Given the description of an element on the screen output the (x, y) to click on. 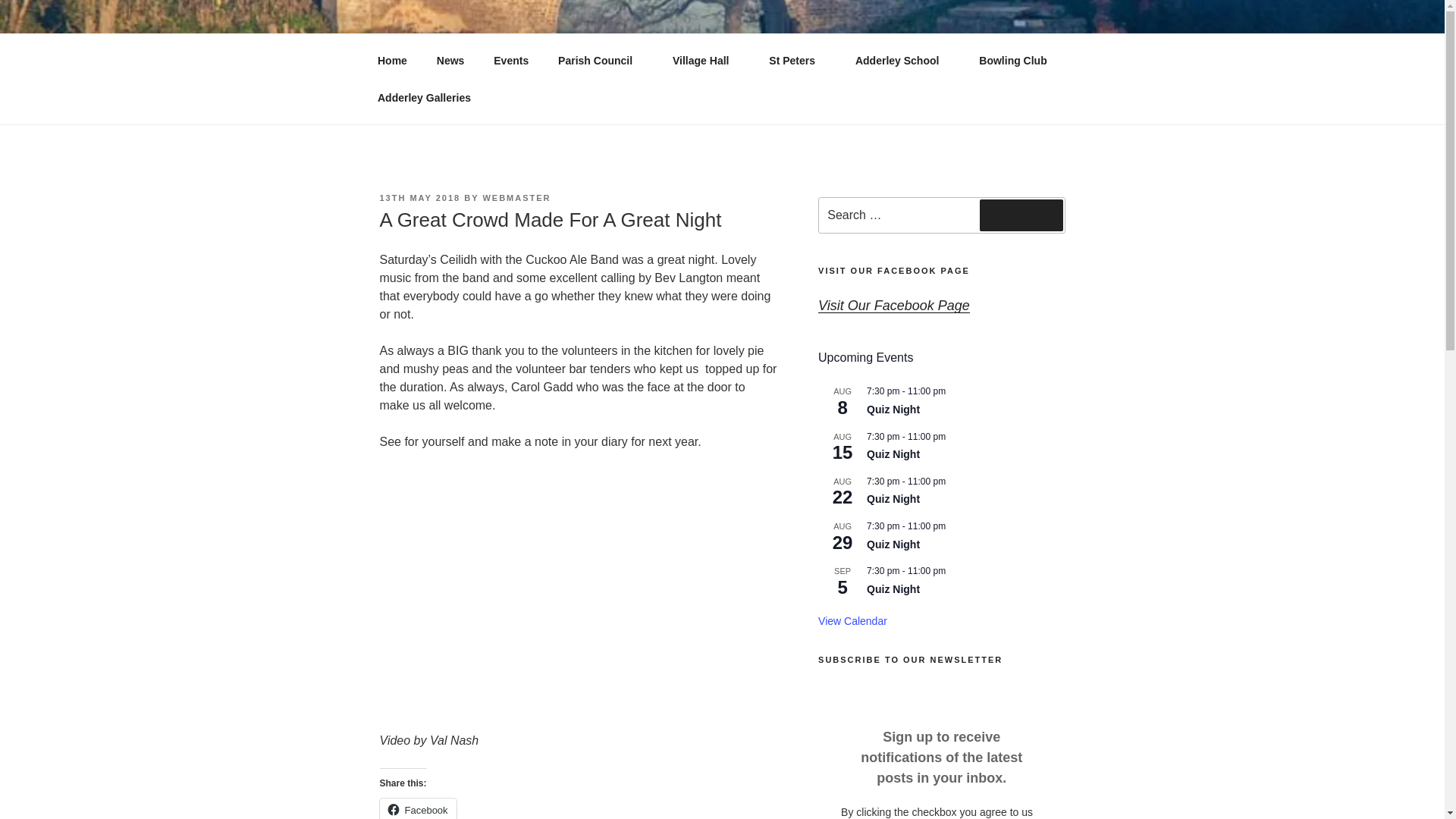
Event Series (952, 570)
Event Series (952, 388)
Parish Council (600, 60)
Quiz Night (893, 589)
Event Series (952, 479)
View more events. (852, 621)
Event Series (952, 524)
Event Series (952, 569)
Event Series (952, 436)
News (450, 60)
Event Series (952, 390)
Events (510, 60)
Event Series (952, 434)
Click to share on Facebook (416, 808)
ADDERLEY PARISH (523, 52)
